Given the description of an element on the screen output the (x, y) to click on. 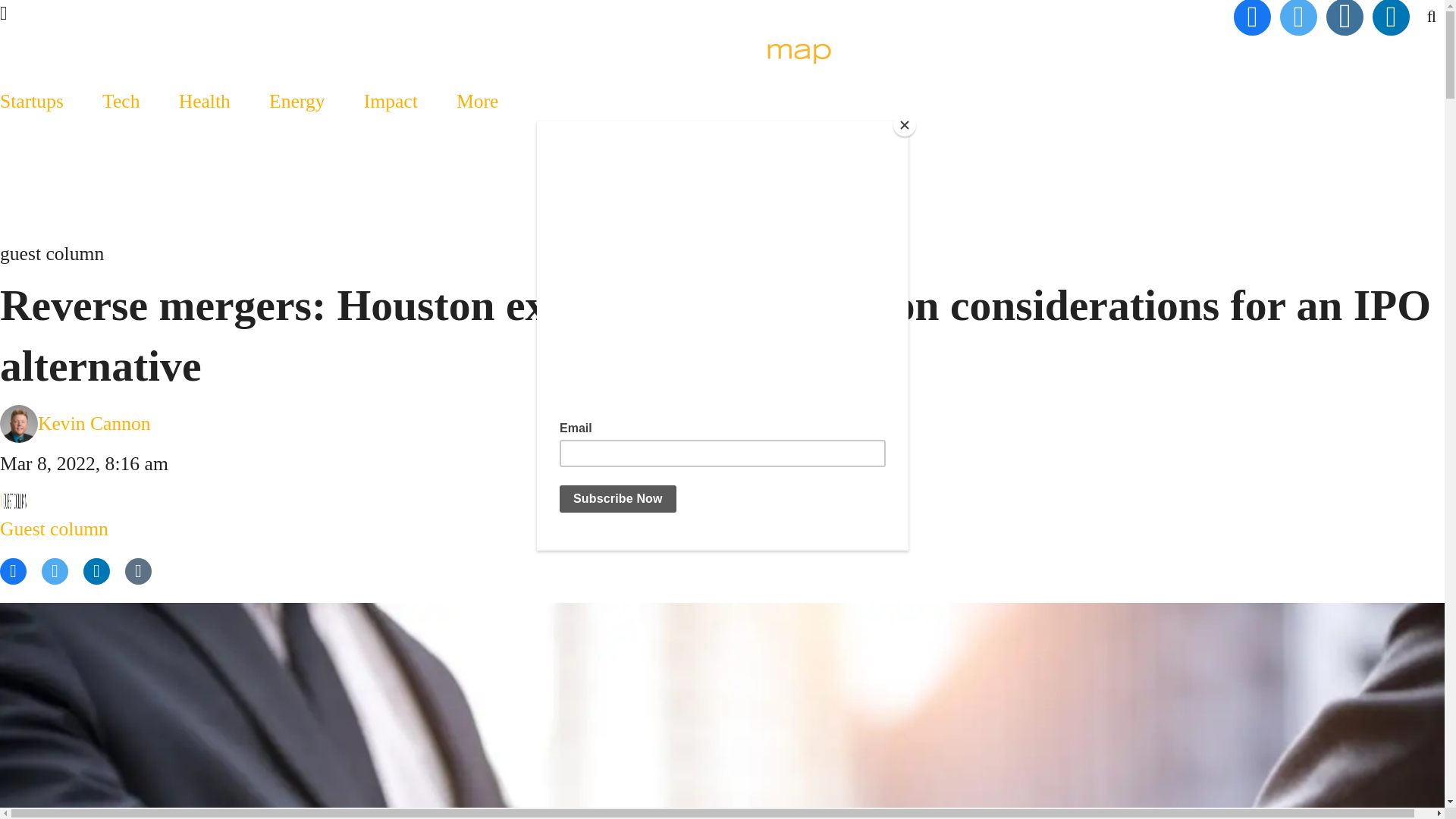
Guest column (53, 513)
Kevin Cannon (94, 423)
Tech (121, 100)
Energy (295, 100)
Health (203, 100)
More (477, 100)
3rd party ad content (721, 198)
Impact (389, 100)
Startups (41, 100)
